Given the description of an element on the screen output the (x, y) to click on. 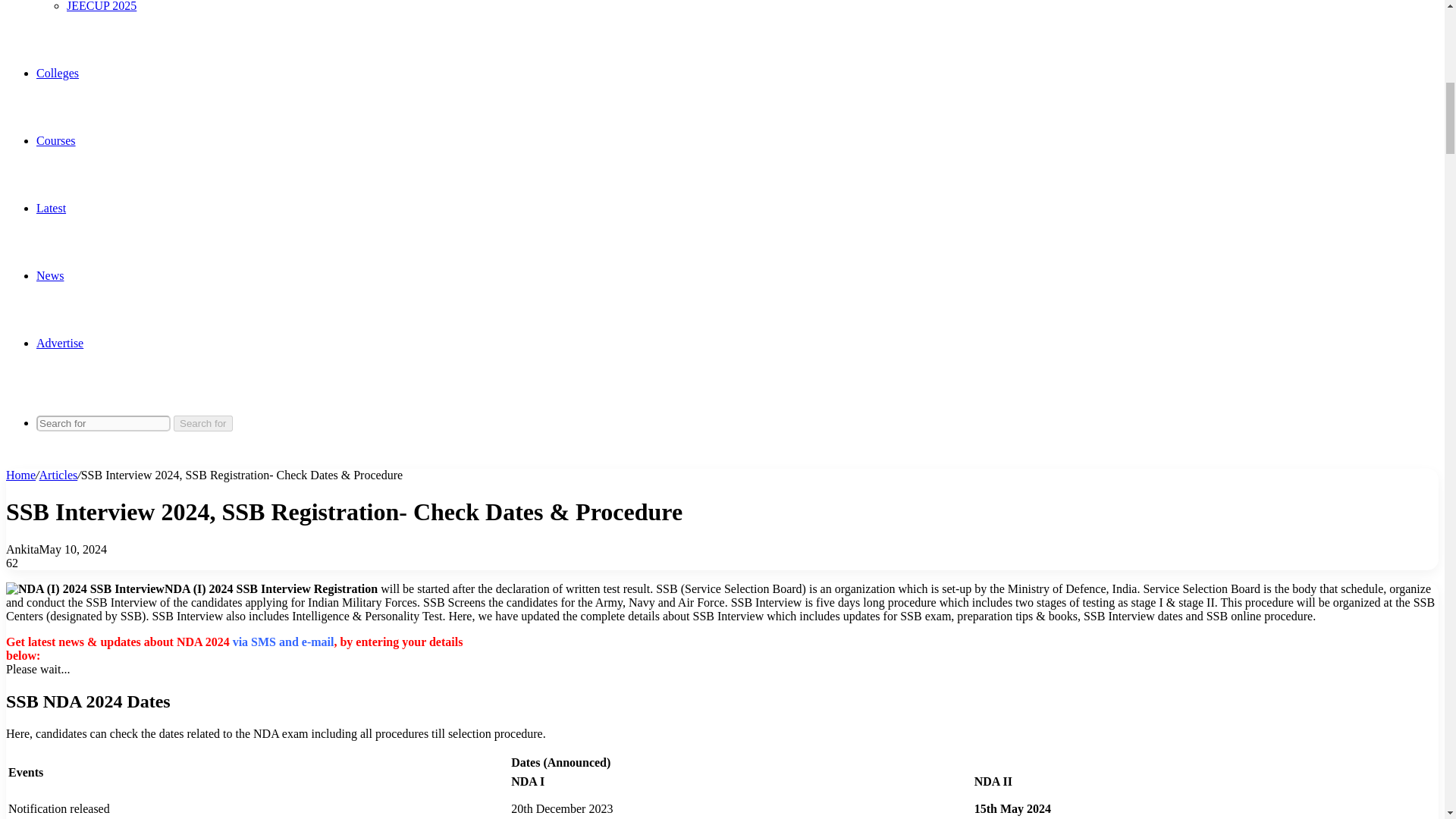
Search for (202, 423)
Courses (55, 140)
Colleges (57, 72)
Advertise (59, 342)
Latest (50, 207)
News (50, 275)
Search for (103, 423)
JEECUP 2025 (101, 6)
Articles (58, 474)
Home (19, 474)
